Given the description of an element on the screen output the (x, y) to click on. 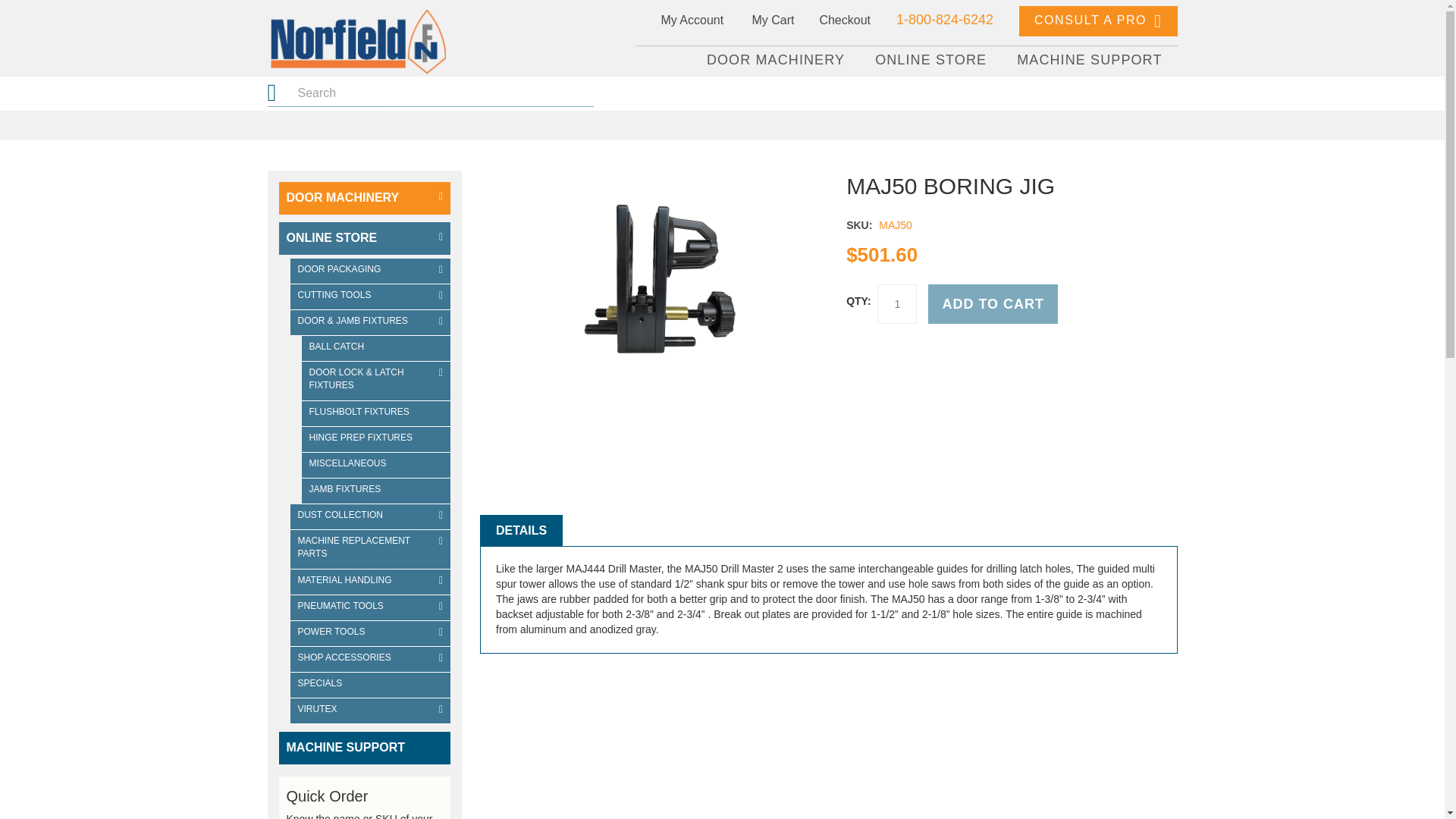
My Account (692, 19)
MAJ50 Boring jig (654, 284)
My Cart (771, 26)
Norfield (355, 42)
DOOR MACHINERY (775, 60)
1-800-824-6242 (944, 19)
MAJ50 Boring jig (697, 440)
CONSULT A PRO (1098, 20)
Door Machinery (365, 197)
Qty (897, 303)
